Given the description of an element on the screen output the (x, y) to click on. 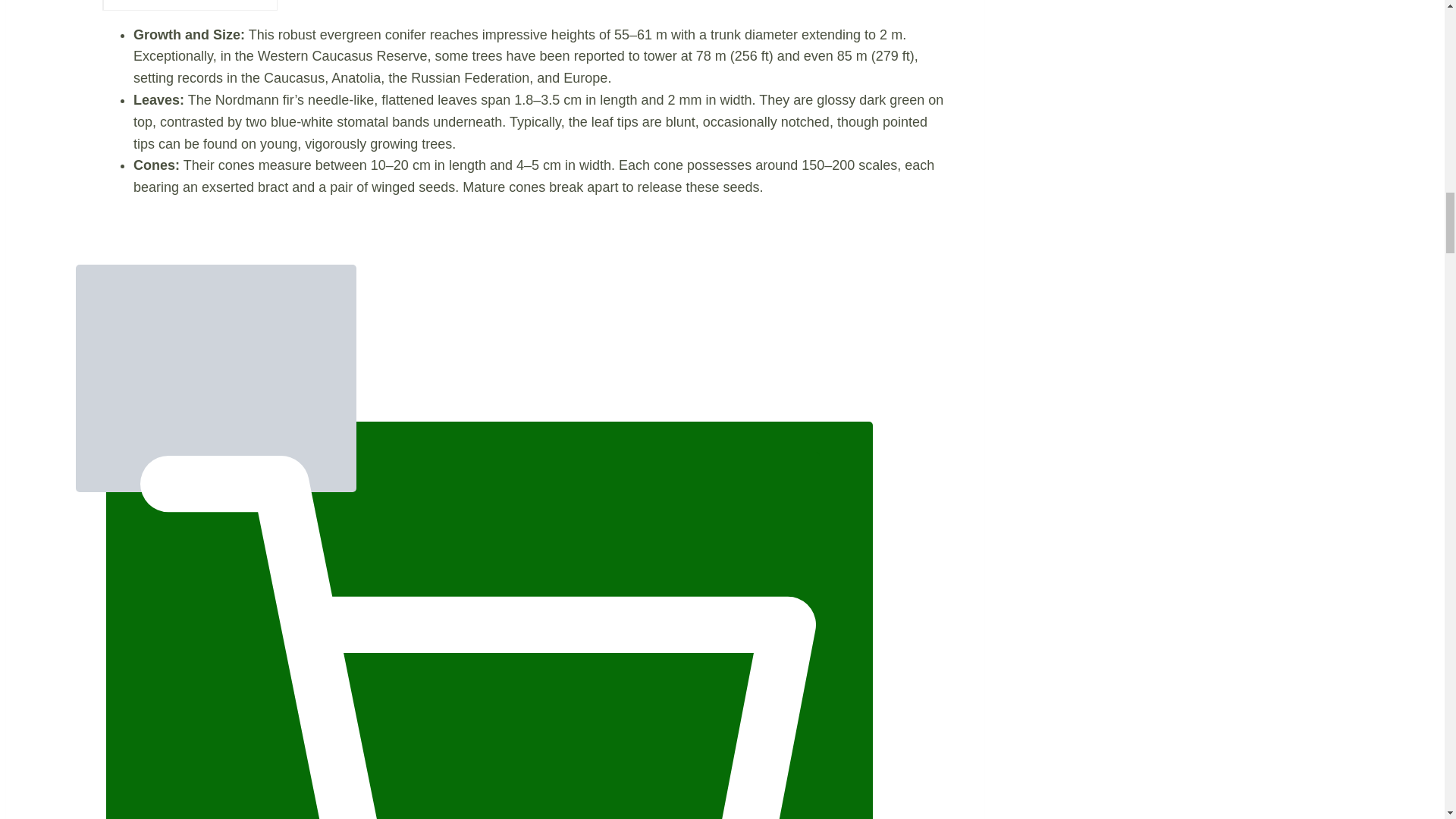
Nordmann Fir 1 (215, 378)
